Given the description of an element on the screen output the (x, y) to click on. 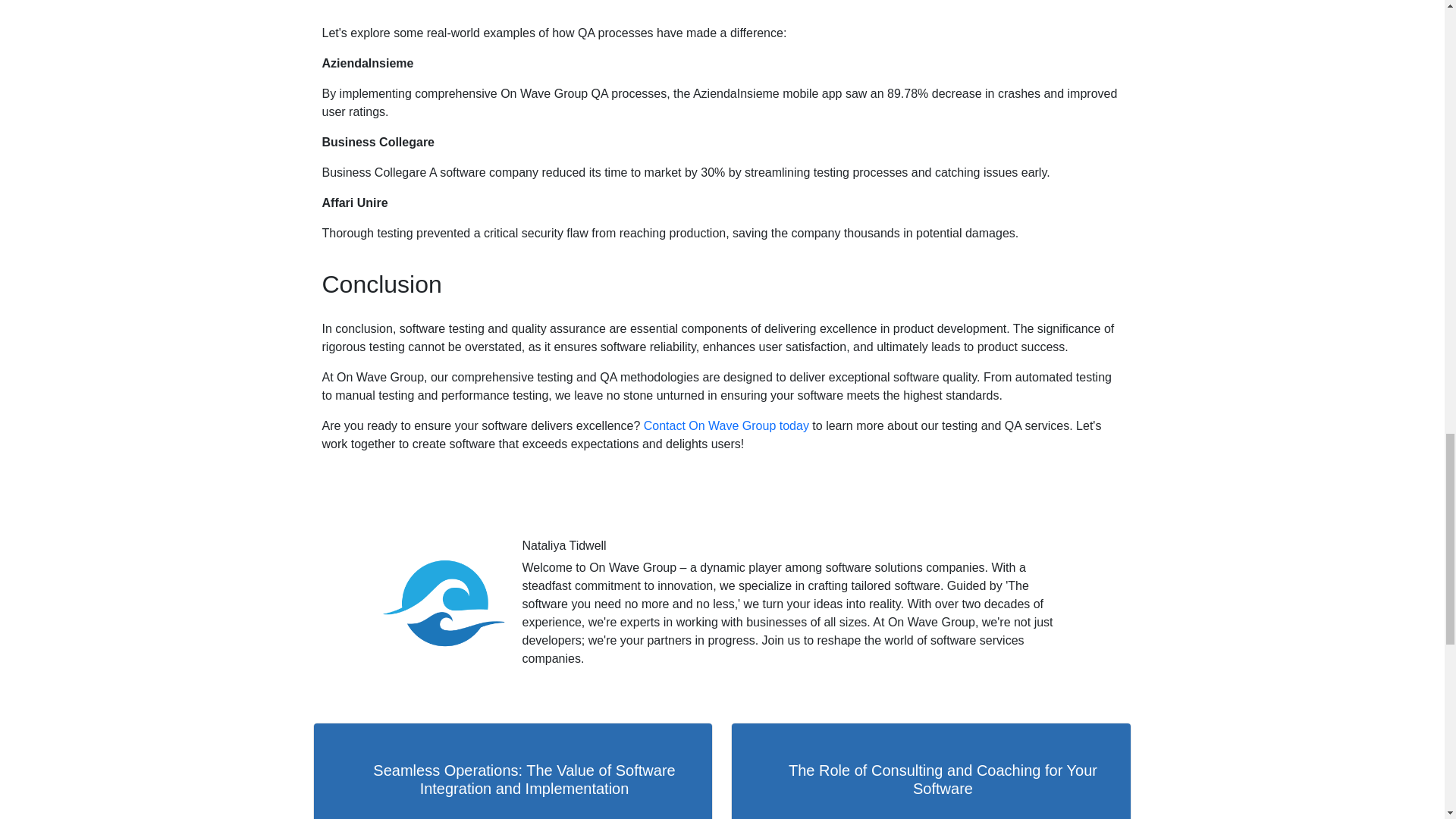
Contact On Wave Group today (726, 425)
The Role of Consulting and Coaching for Your Software (930, 770)
